Given the description of an element on the screen output the (x, y) to click on. 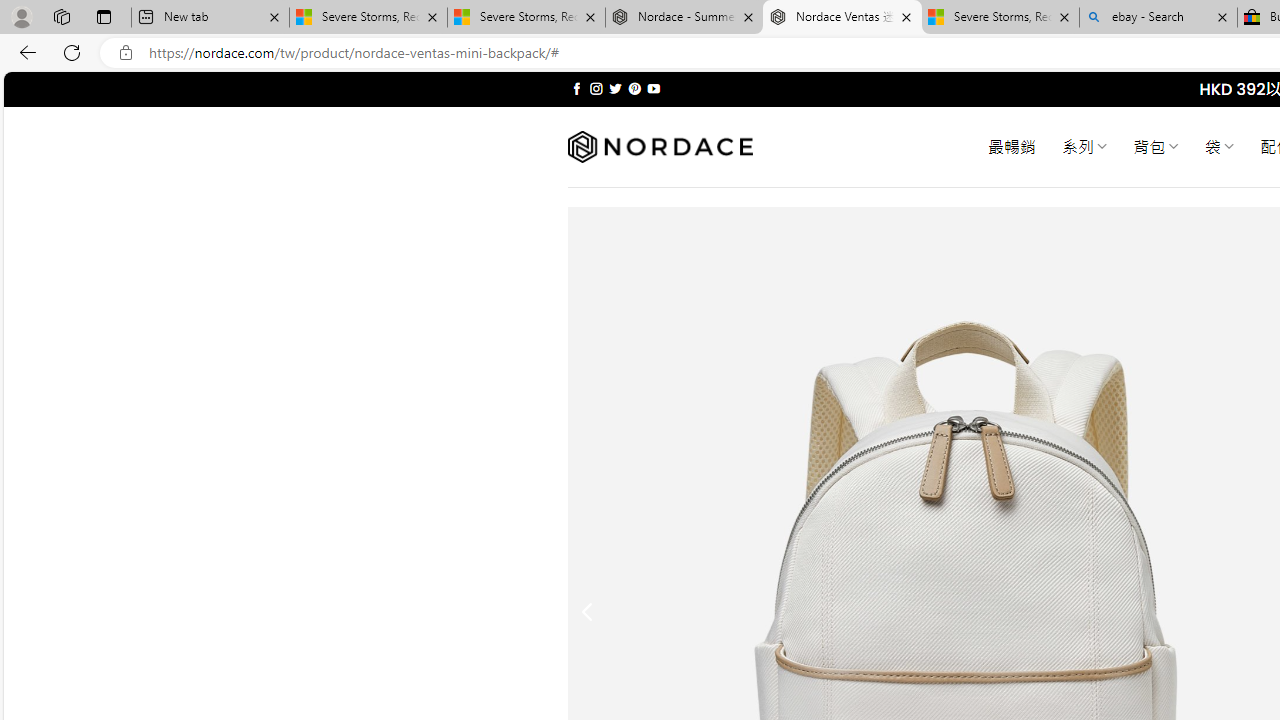
Follow on Twitter (615, 88)
